Given the description of an element on the screen output the (x, y) to click on. 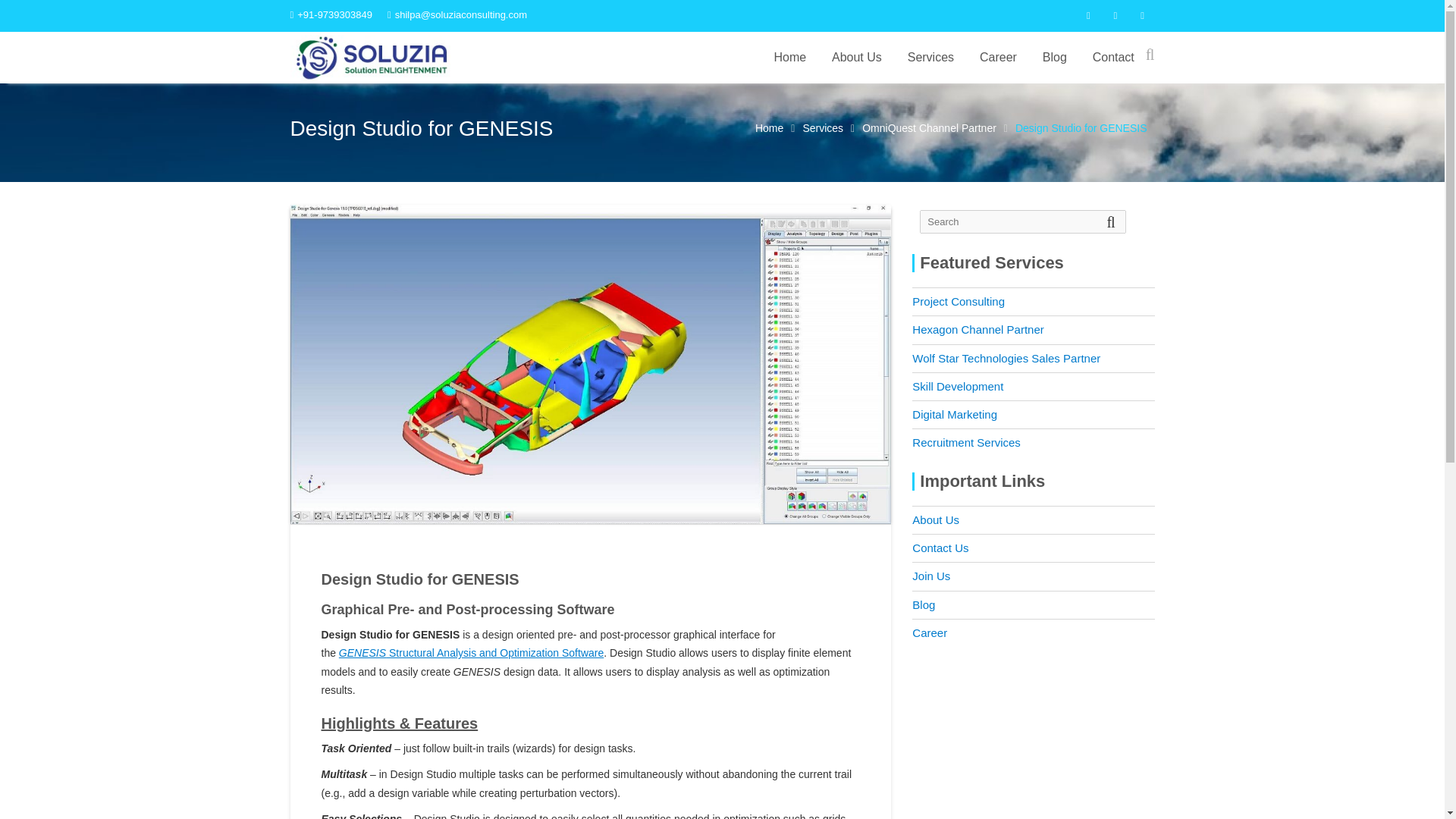
Twitter (1114, 15)
Home (788, 57)
Digital Marketing (954, 413)
OmniQuest Channel Partner (928, 127)
Career (997, 57)
Facebook (1087, 15)
Contact Us (940, 547)
Join Us (931, 575)
Blog (1054, 57)
Wolf Star Technologies Sales Partner (1006, 358)
GENESIS Structural Analysis and Optimization Software (471, 653)
Services (930, 57)
Home (769, 126)
About Us (935, 519)
Project Consulting (958, 300)
